Given the description of an element on the screen output the (x, y) to click on. 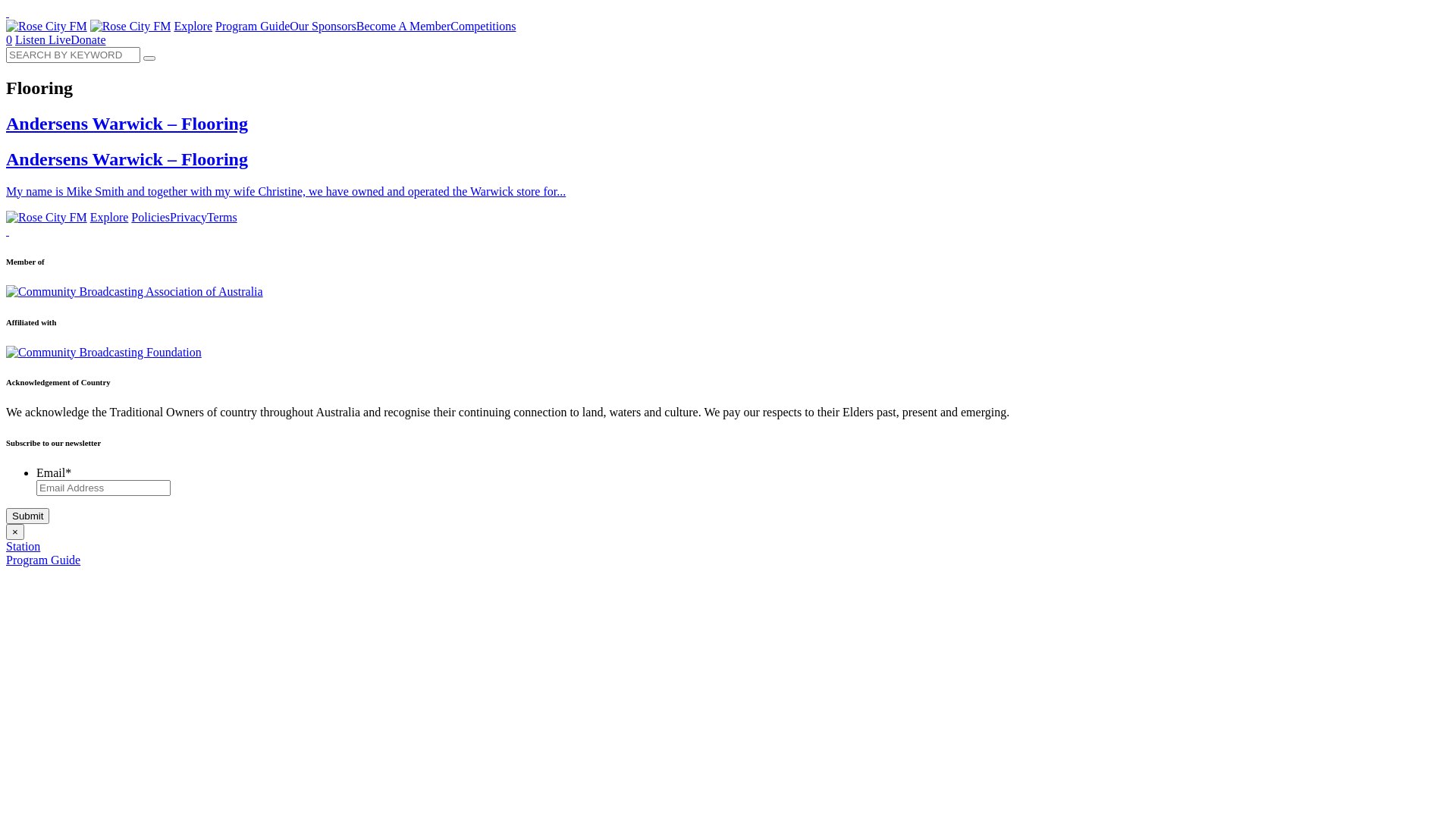
Donate Element type: text (87, 39)
Competitions Element type: text (482, 25)
  Element type: text (7, 230)
Program Guide Element type: text (252, 25)
Submit Element type: text (27, 516)
Policies Element type: text (150, 216)
Explore Element type: text (192, 25)
Privacy Element type: text (188, 216)
0 Element type: text (9, 39)
Terms Element type: text (222, 216)
  Element type: text (7, 12)
Listen Live Element type: text (42, 39)
Our Sponsors Element type: text (322, 25)
Become A Member Element type: text (403, 25)
Station Element type: text (23, 545)
Program Guide Element type: text (43, 559)
Explore Element type: text (109, 216)
